Given the description of an element on the screen output the (x, y) to click on. 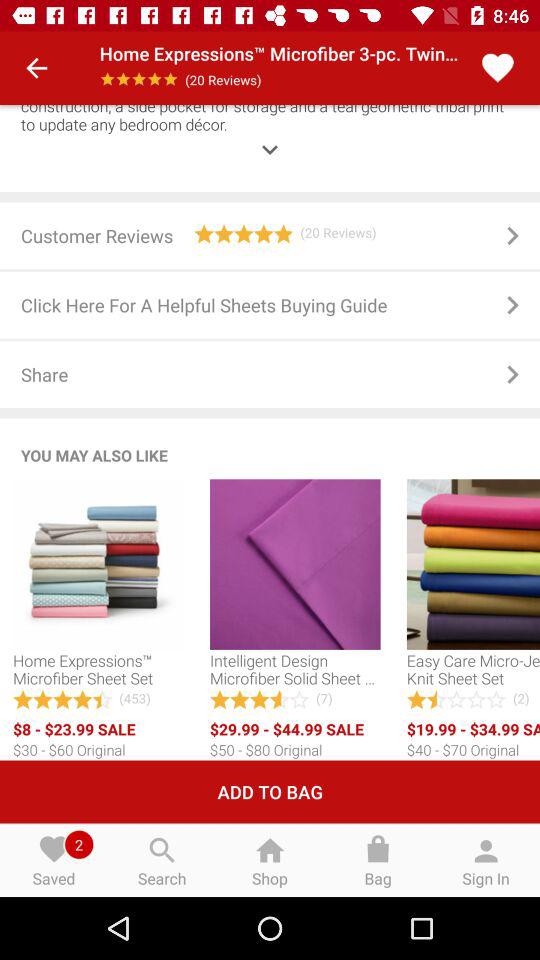
shows favourite icon (498, 68)
